Given the description of an element on the screen output the (x, y) to click on. 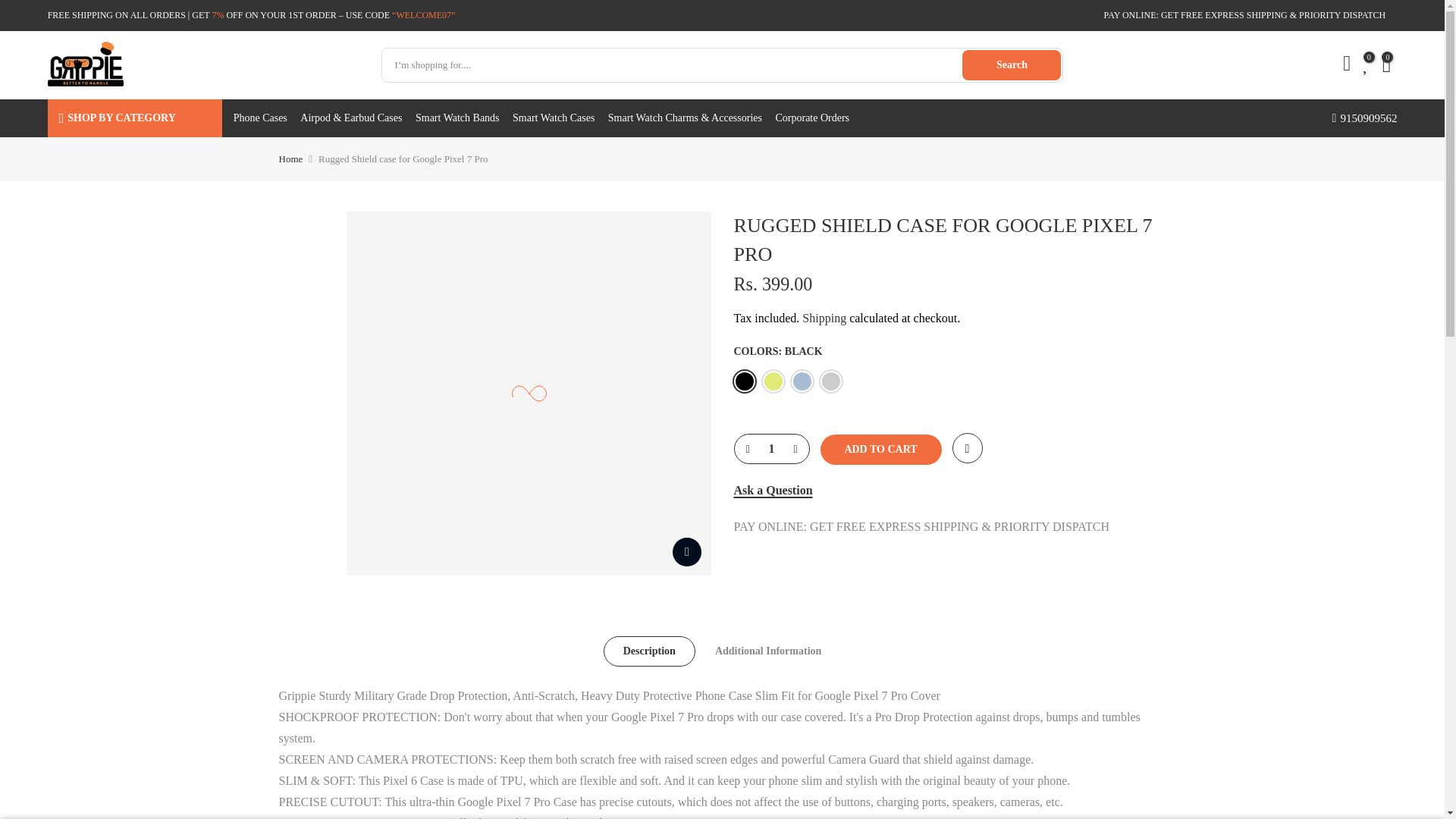
Home (290, 159)
Additional Information (768, 651)
Search (1011, 64)
Description (649, 651)
Phone Cases (266, 118)
Shipping (823, 318)
Ask a Question (772, 490)
ADD TO CART (881, 449)
Corporate Orders (817, 118)
Smart Watch Bands (463, 118)
